Given the description of an element on the screen output the (x, y) to click on. 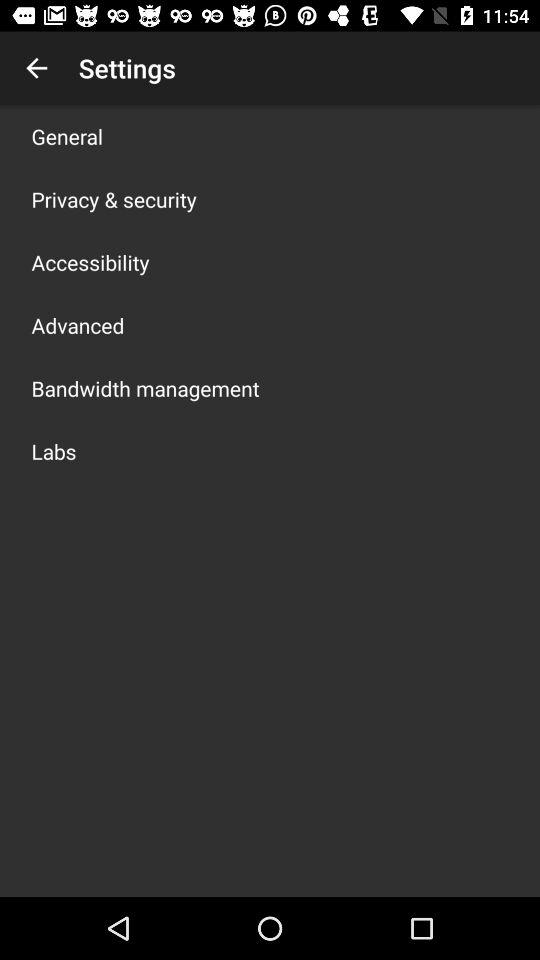
scroll until labs icon (53, 451)
